Given the description of an element on the screen output the (x, y) to click on. 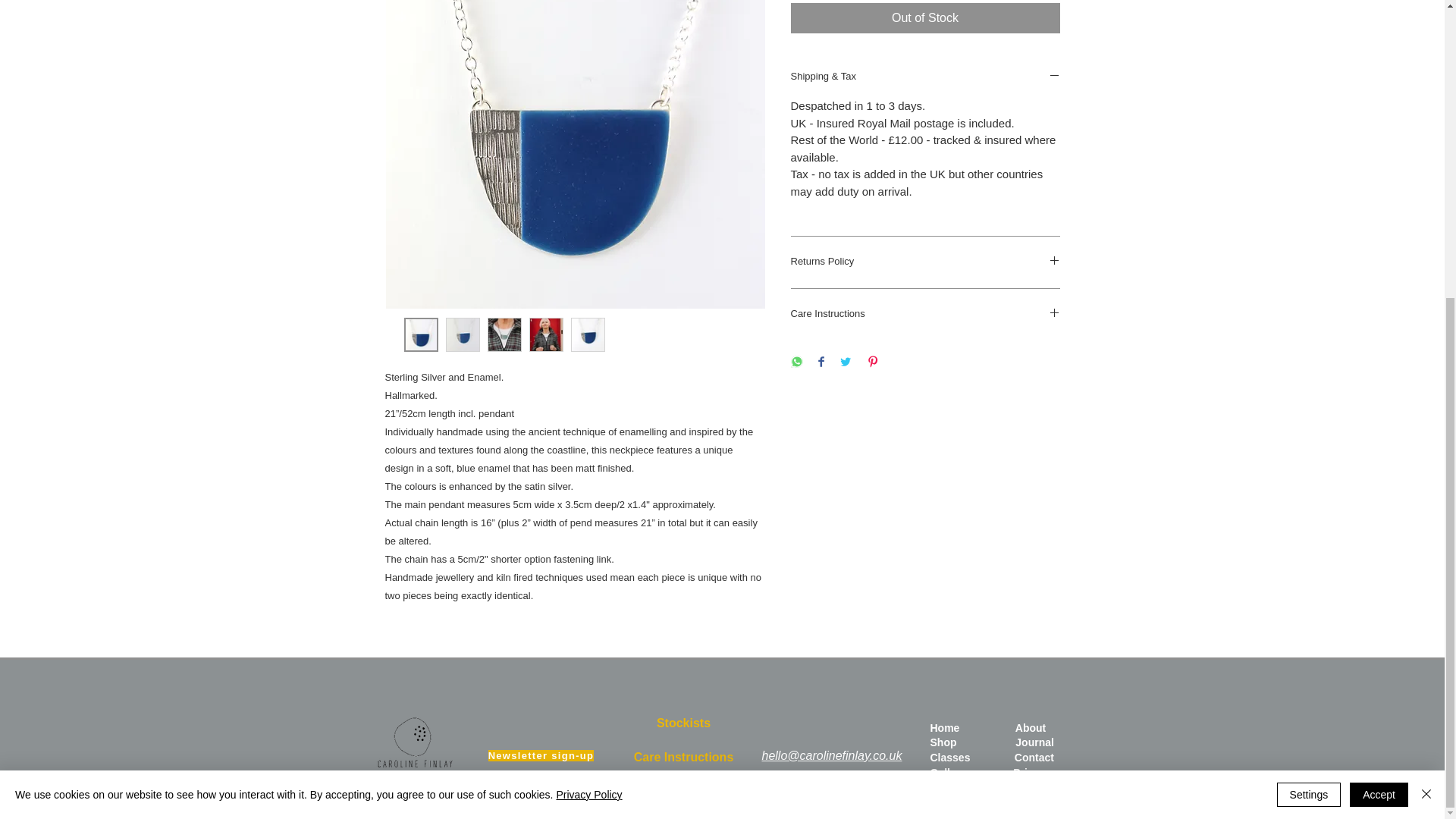
Care Instructions (924, 314)
Newsletter sign-up (542, 756)
Returns Policy (924, 262)
Out of Stock (924, 18)
